Given the description of an element on the screen output the (x, y) to click on. 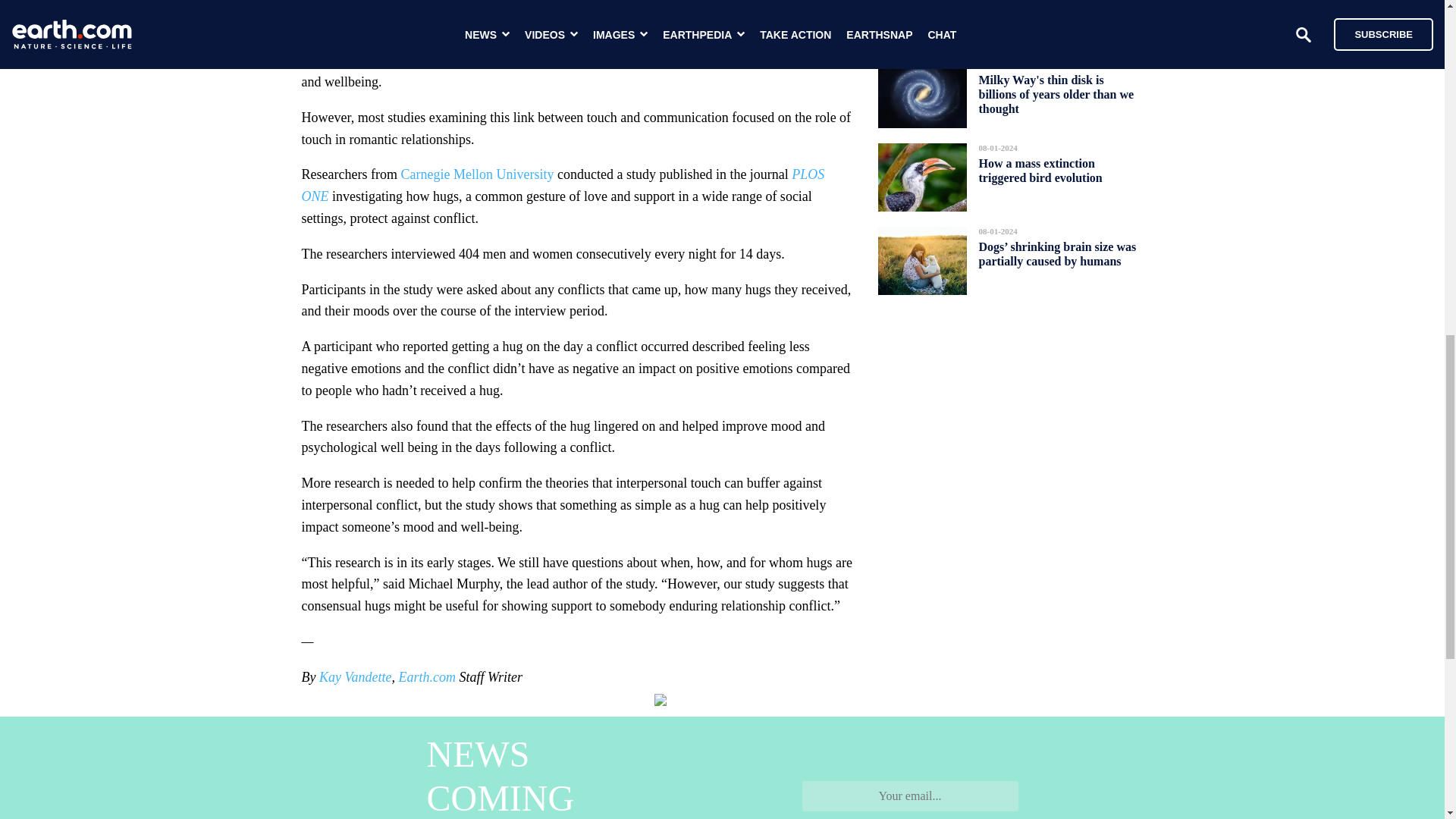
Kay Vandette (354, 676)
stress (607, 59)
Earth.com (426, 676)
Carnegie Mellon University (476, 174)
PLOS ONE (563, 185)
How a mass extinction triggered bird evolution (1040, 170)
